Given the description of an element on the screen output the (x, y) to click on. 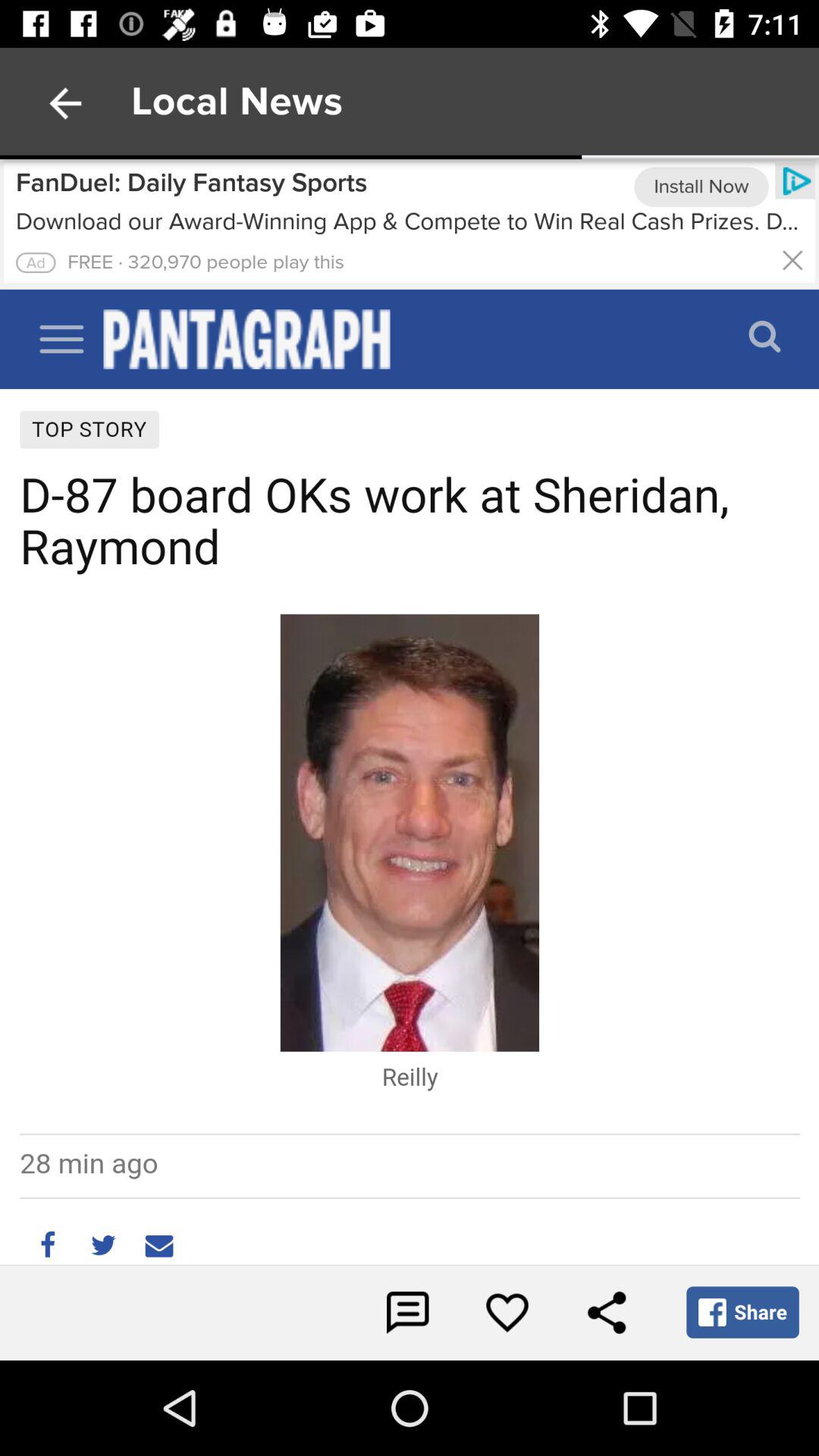
description (35, 262)
